Given the description of an element on the screen output the (x, y) to click on. 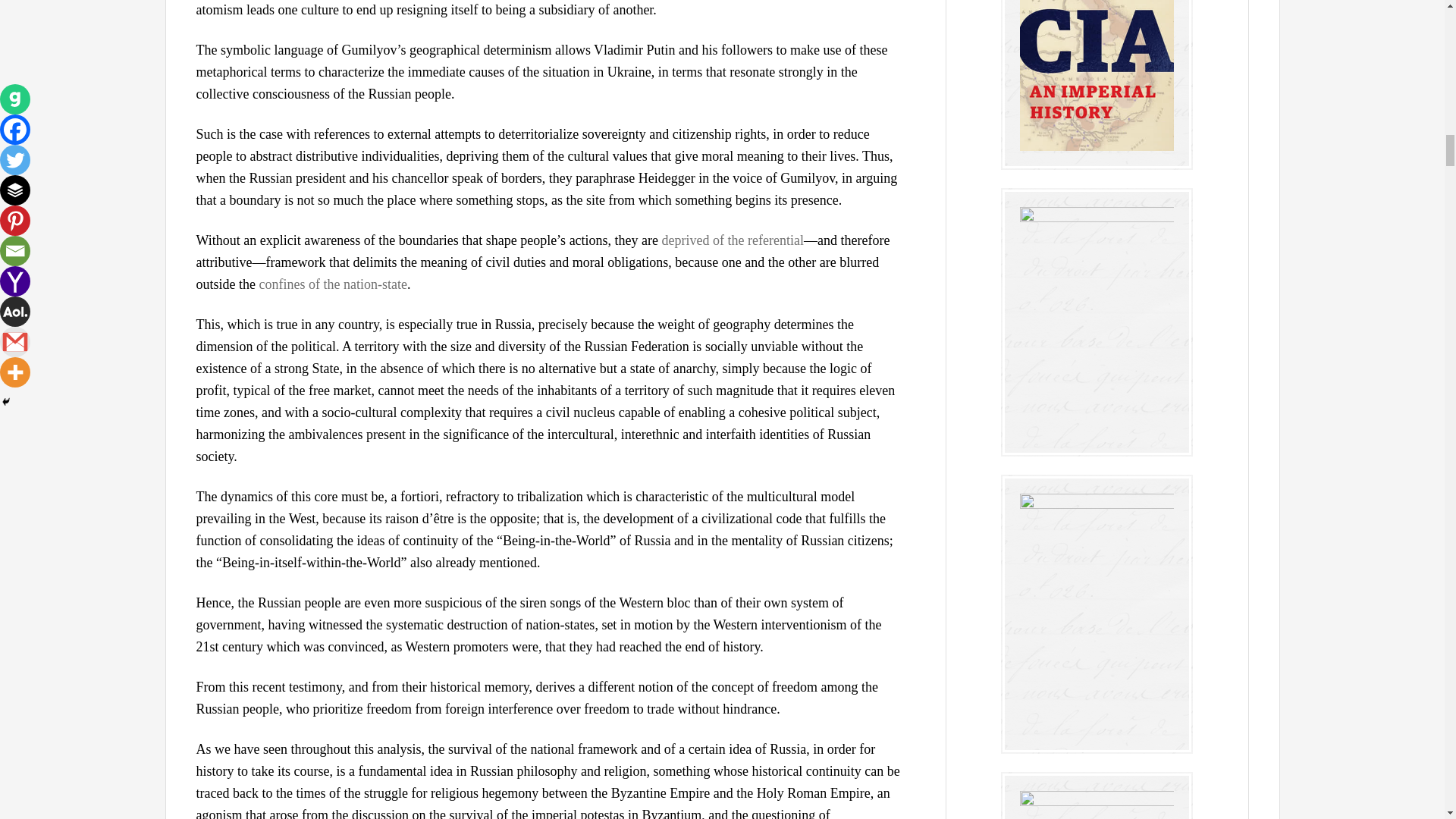
deprived of the referential (732, 240)
confines of the nation-state (333, 283)
